Given the description of an element on the screen output the (x, y) to click on. 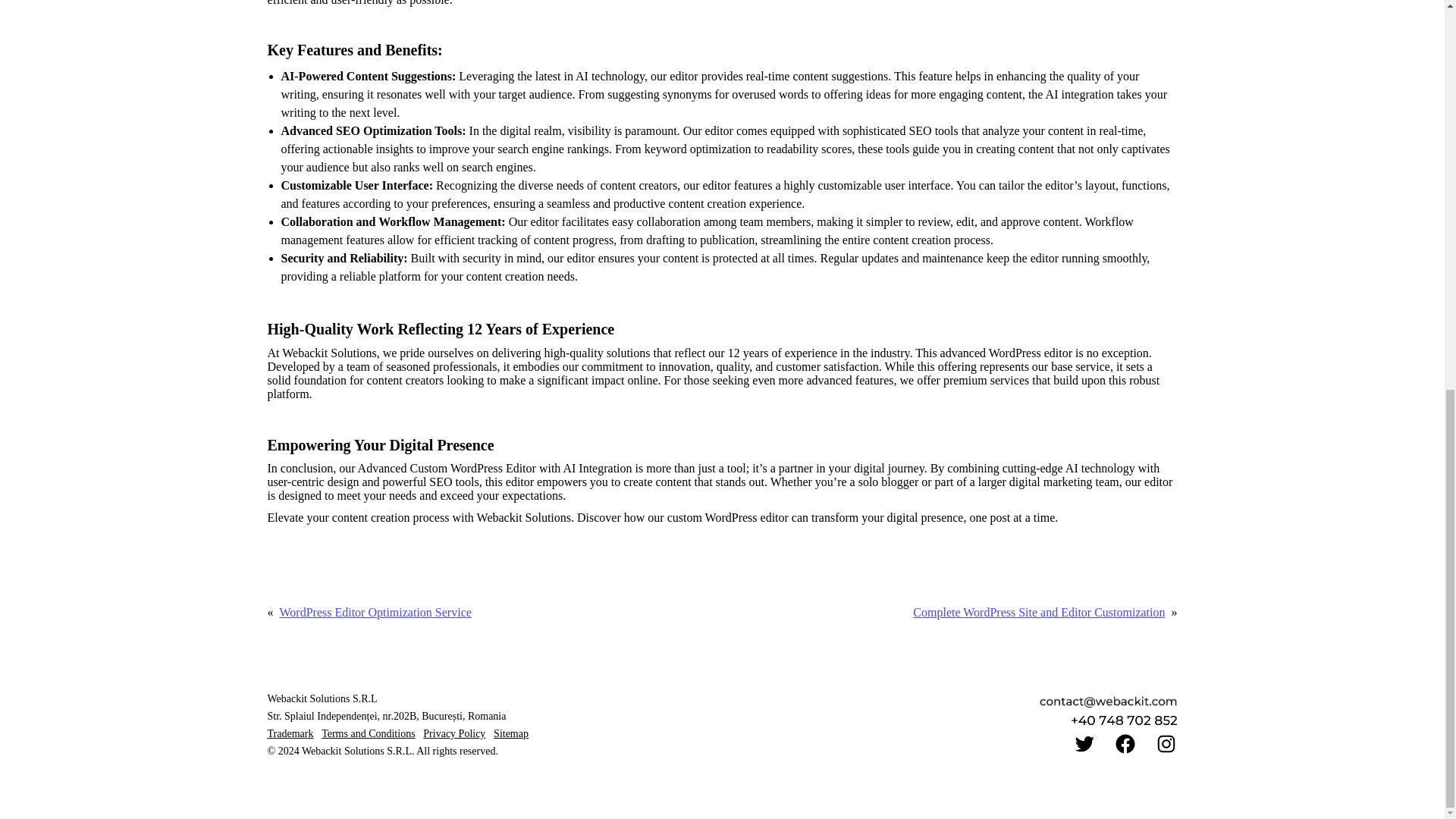
WordPress Editor Optimization Service (374, 612)
information is secured against bots. (1123, 719)
Complete WordPress Site and Editor Customization (1038, 612)
information is secured against bots. (1108, 702)
